Given the description of an element on the screen output the (x, y) to click on. 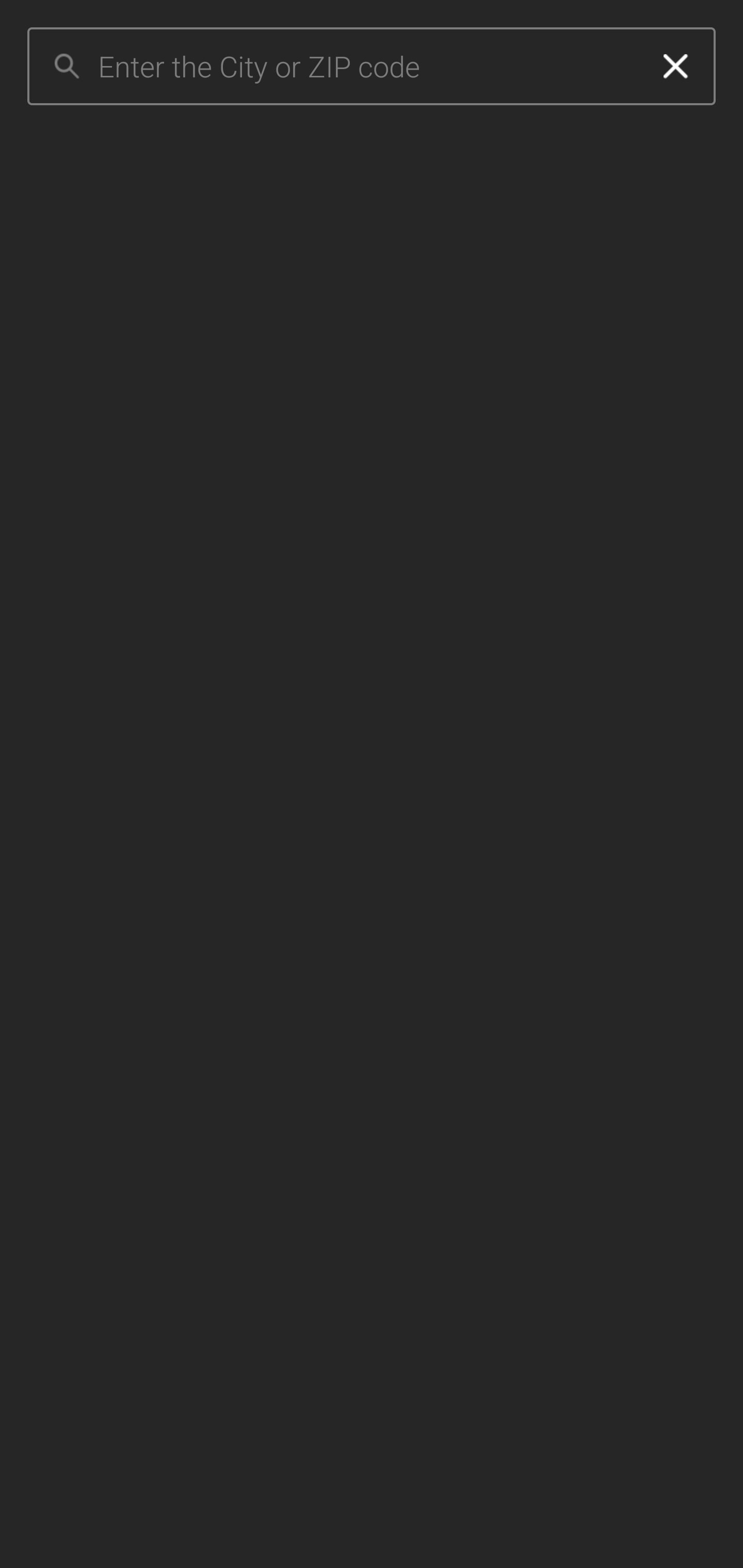
Enter the City or ZIP code (367, 66)
